Given the description of an element on the screen output the (x, y) to click on. 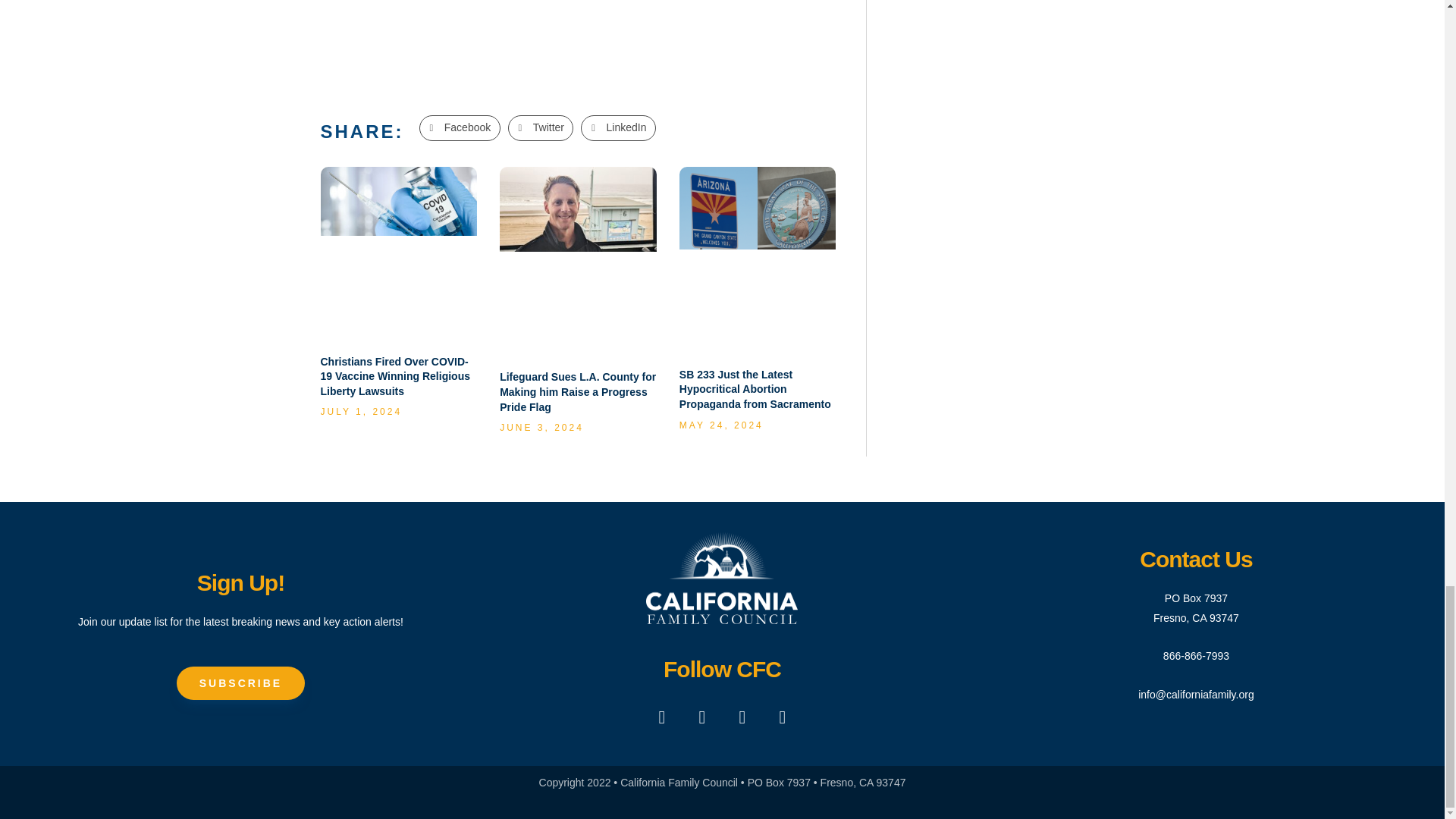
jeffrey little - California Family Council (577, 209)
D4-COVID-vaccine - California Family Council (398, 201)
